Given the description of an element on the screen output the (x, y) to click on. 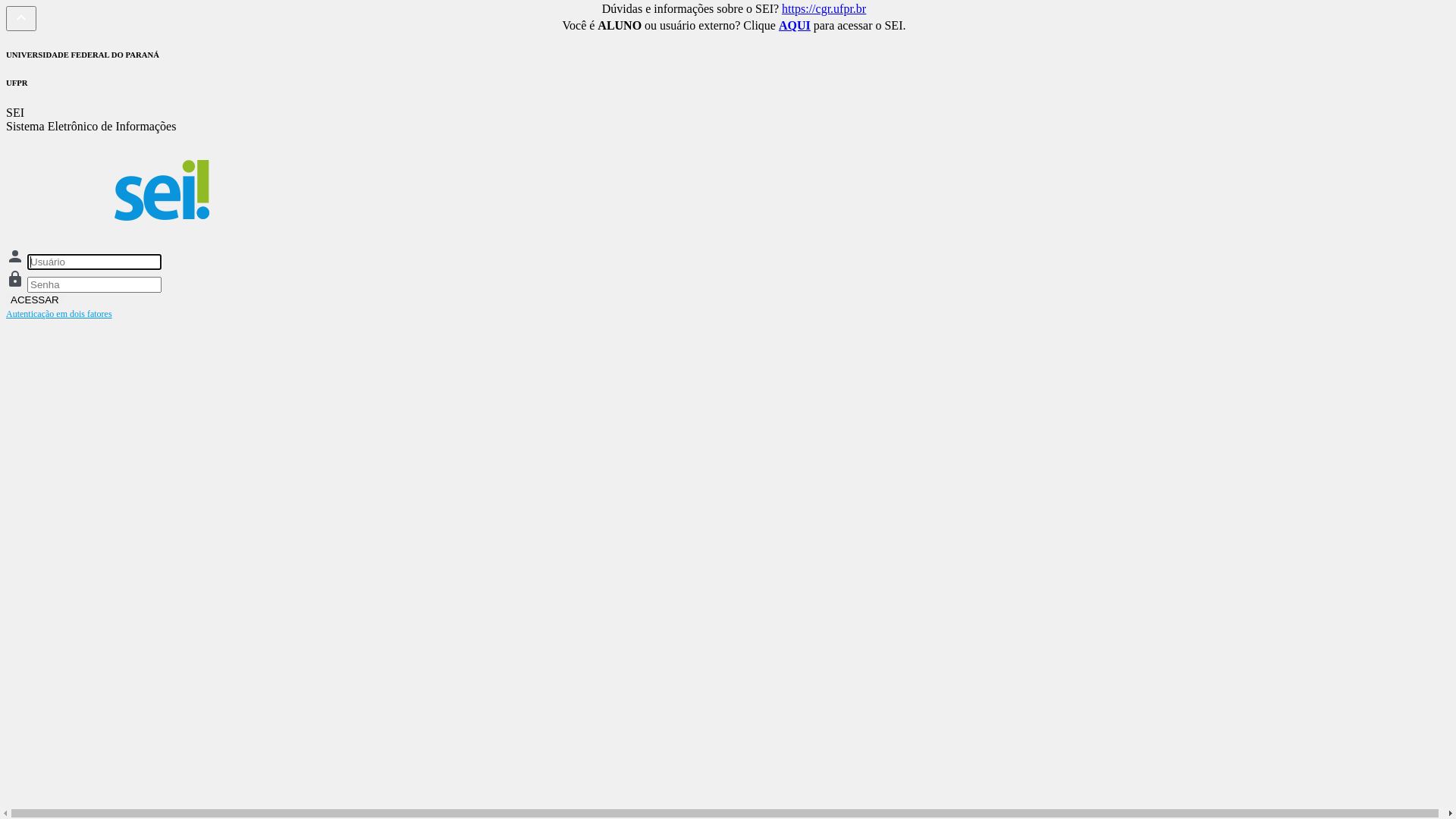
AQUI Element type: text (794, 24)
https://cgr.ufpr.br Element type: text (823, 8)
Voltar ao Topo Element type: hover (21, 17)
ACESSAR Element type: text (34, 299)
